Given the description of an element on the screen output the (x, y) to click on. 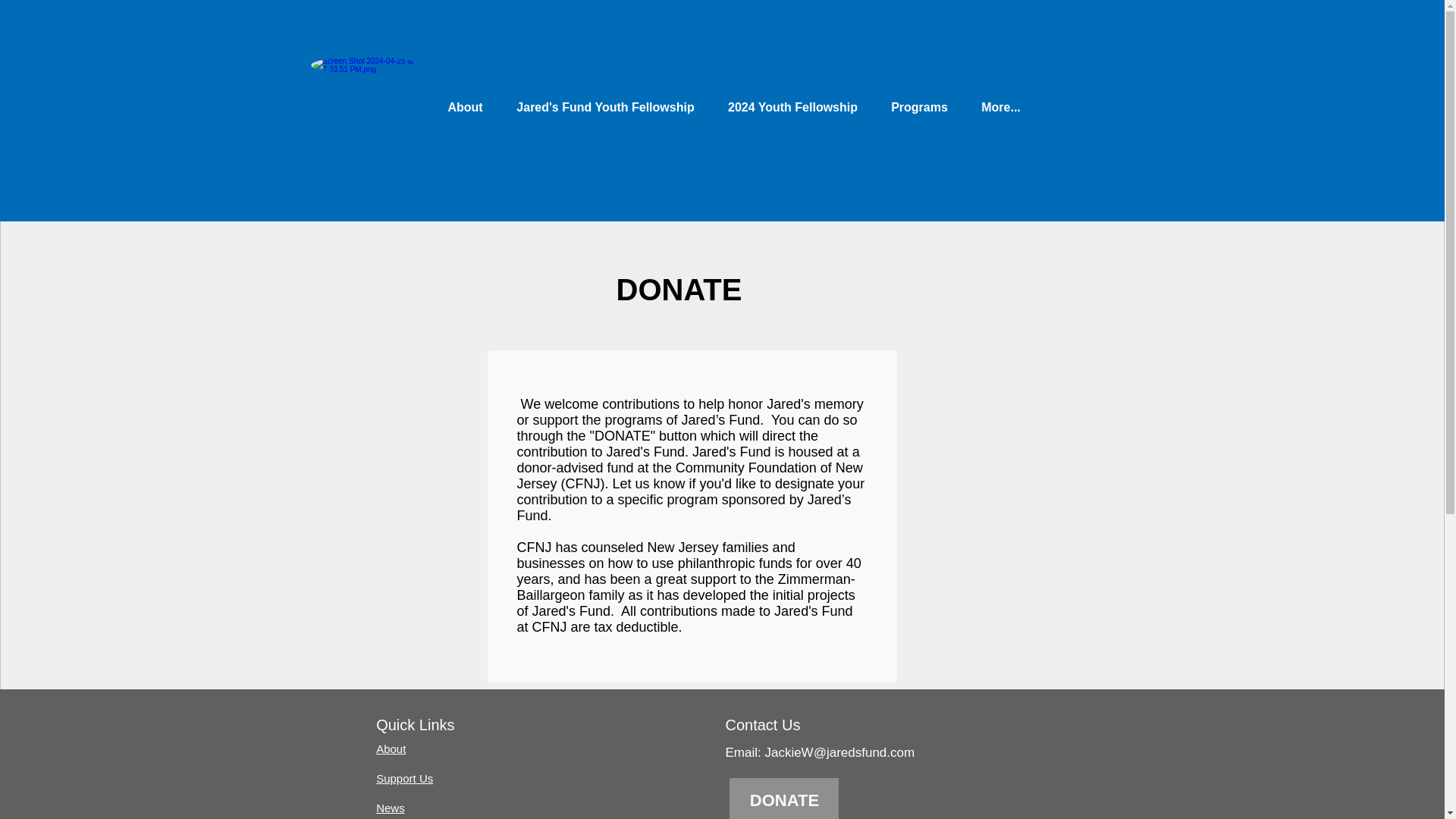
Jared's Fund Youth Fellowship (604, 107)
Support Us (403, 778)
About (464, 107)
News (389, 807)
DONATE (783, 798)
About (390, 748)
DONATE (678, 289)
2024 Youth Fellowship (793, 107)
Contact Us (762, 724)
